Given the description of an element on the screen output the (x, y) to click on. 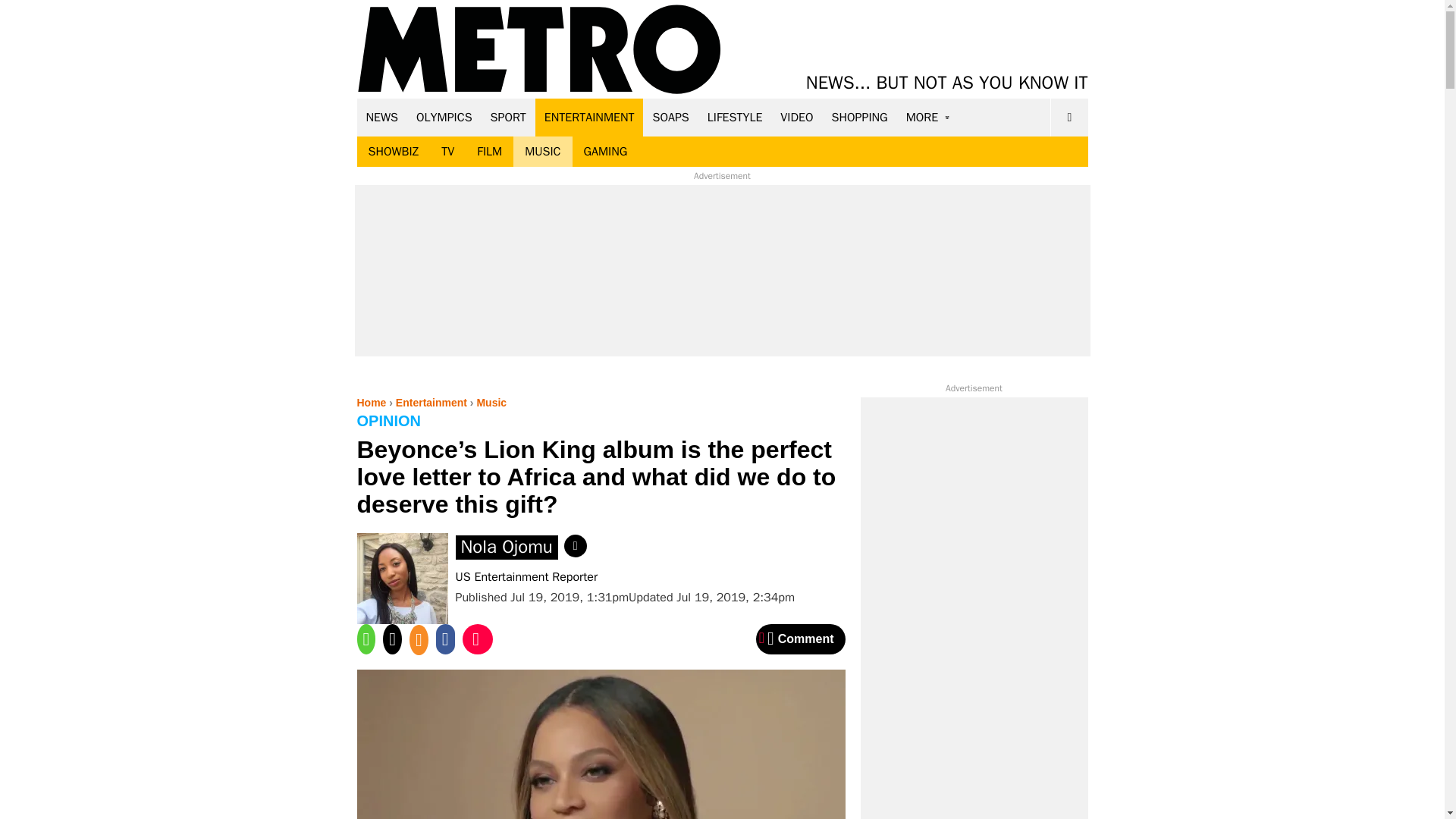
TV (447, 151)
SOAPS (670, 117)
OLYMPICS (444, 117)
NEWS (381, 117)
GAMING (605, 151)
FILM (489, 151)
SHOWBIZ (392, 151)
Metro (539, 50)
ENTERTAINMENT (589, 117)
LIFESTYLE (734, 117)
